Given the description of an element on the screen output the (x, y) to click on. 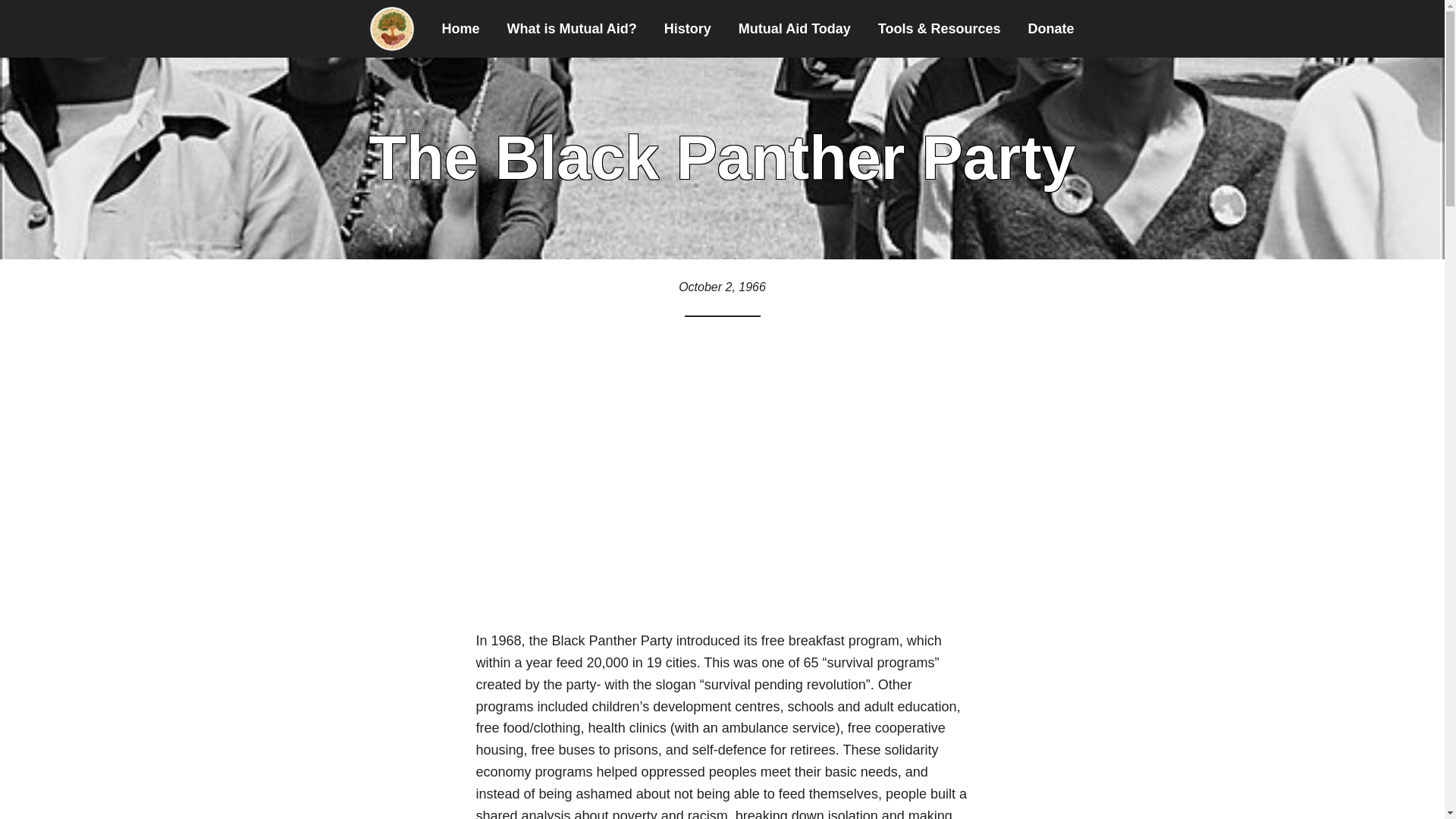
Mutual Aid Today (794, 28)
Donate (1050, 28)
History (687, 28)
What is Mutual Aid? (571, 28)
Home (460, 28)
